Given the description of an element on the screen output the (x, y) to click on. 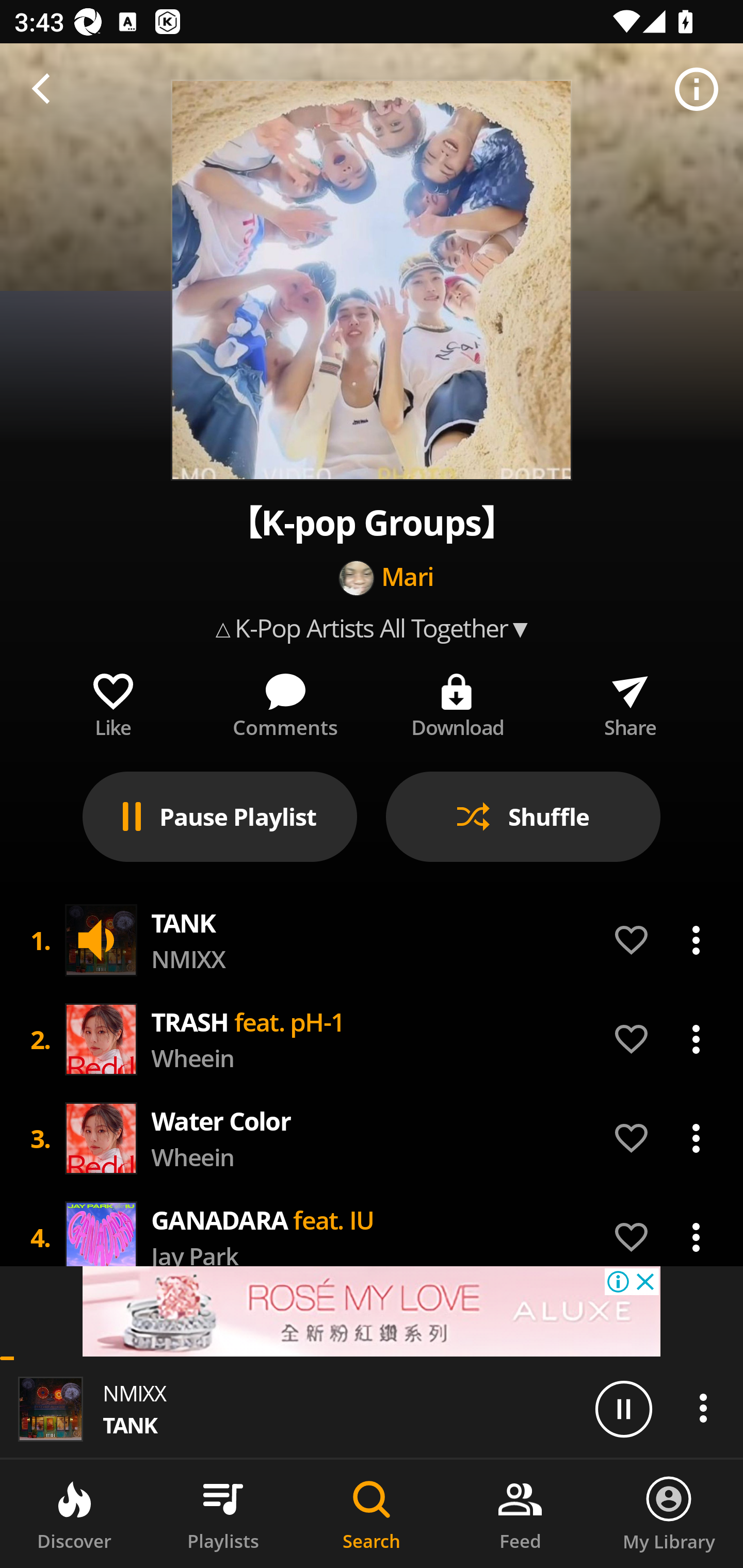
Close (46, 89)
Music info (696, 89)
Mari (407, 577)
Like (112, 701)
Comment Comments Comment (285, 701)
Download (457, 701)
Share (629, 701)
Pause Playlist (219, 816)
Shuffle (522, 816)
1. Song artwork TANK NMIXX Actions (371, 939)
Actions (695, 939)
2. Song artwork TRASH feat. pH-1 Wheein Actions (371, 1038)
Actions (695, 1039)
3. Song artwork Water Color Wheein Actions (371, 1138)
Actions (695, 1138)
4. Song artwork GANADARA feat. IU Jay Park Actions (371, 1237)
Actions (695, 1237)
Actions (703, 1407)
Play/Pause (623, 1408)
Discover (74, 1513)
Playlists (222, 1513)
Search (371, 1513)
Feed (519, 1513)
My Library (668, 1513)
